Given the description of an element on the screen output the (x, y) to click on. 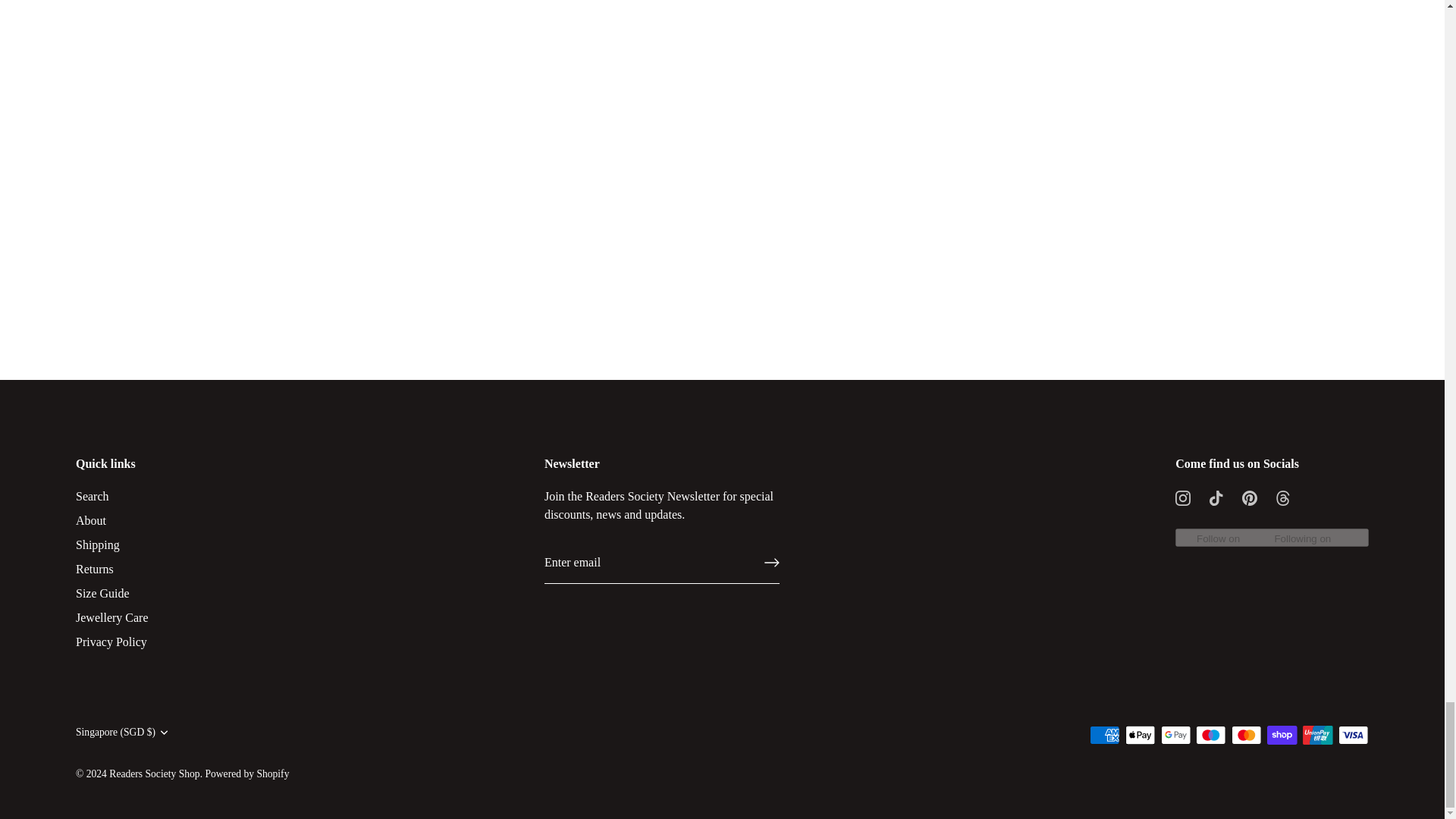
Apple Pay (1140, 734)
Union Pay (1317, 734)
Google Pay (1174, 734)
Pinterest (1249, 498)
American Express (1104, 734)
Visa (1353, 734)
Instagram (1182, 498)
Maestro (1210, 734)
Shop Pay (1281, 734)
Mastercard (1245, 734)
RIGHT ARROW LONG (771, 562)
